Given the description of an element on the screen output the (x, y) to click on. 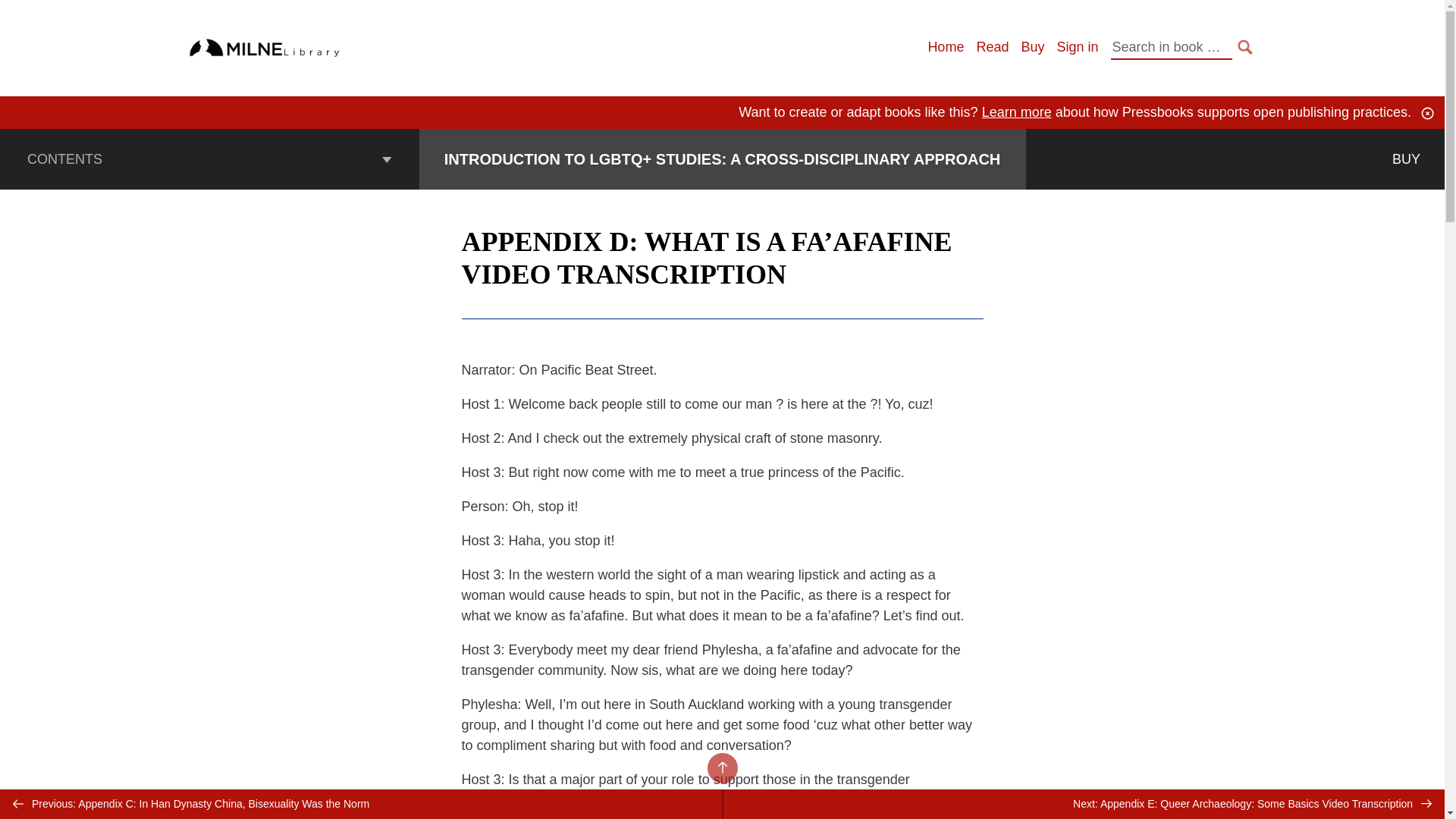
CONTENTS (209, 158)
Learn more (1016, 111)
Read (992, 46)
Sign in (1077, 46)
Home (945, 46)
Buy (1031, 46)
BACK TO TOP (721, 767)
BUY (1406, 158)
